Given the description of an element on the screen output the (x, y) to click on. 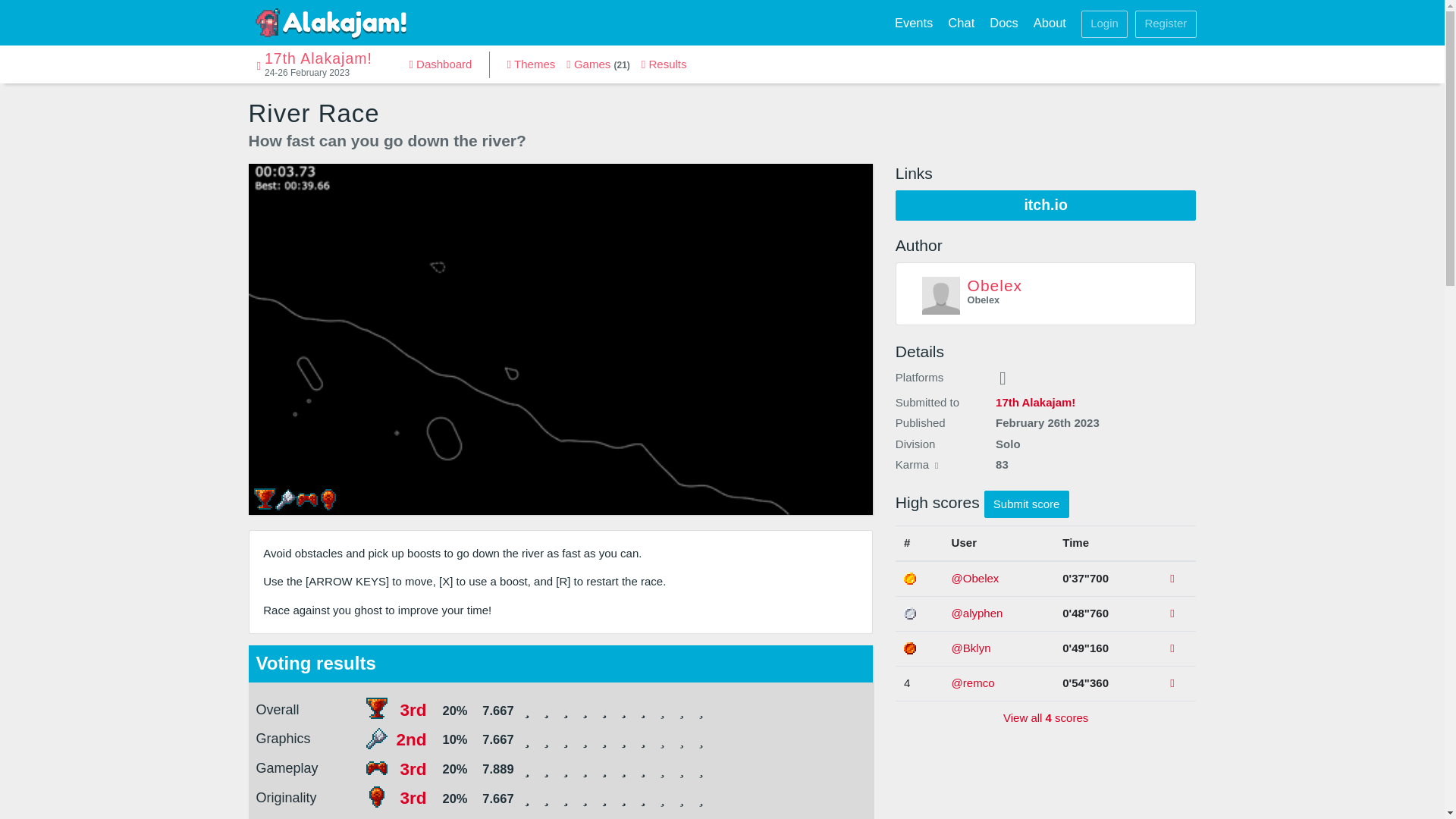
Login (1103, 22)
 Themes (530, 64)
Login (1103, 23)
3rd (412, 710)
3rd (412, 797)
2nd (411, 739)
 Results (663, 64)
Register (1165, 23)
